Given the description of an element on the screen output the (x, y) to click on. 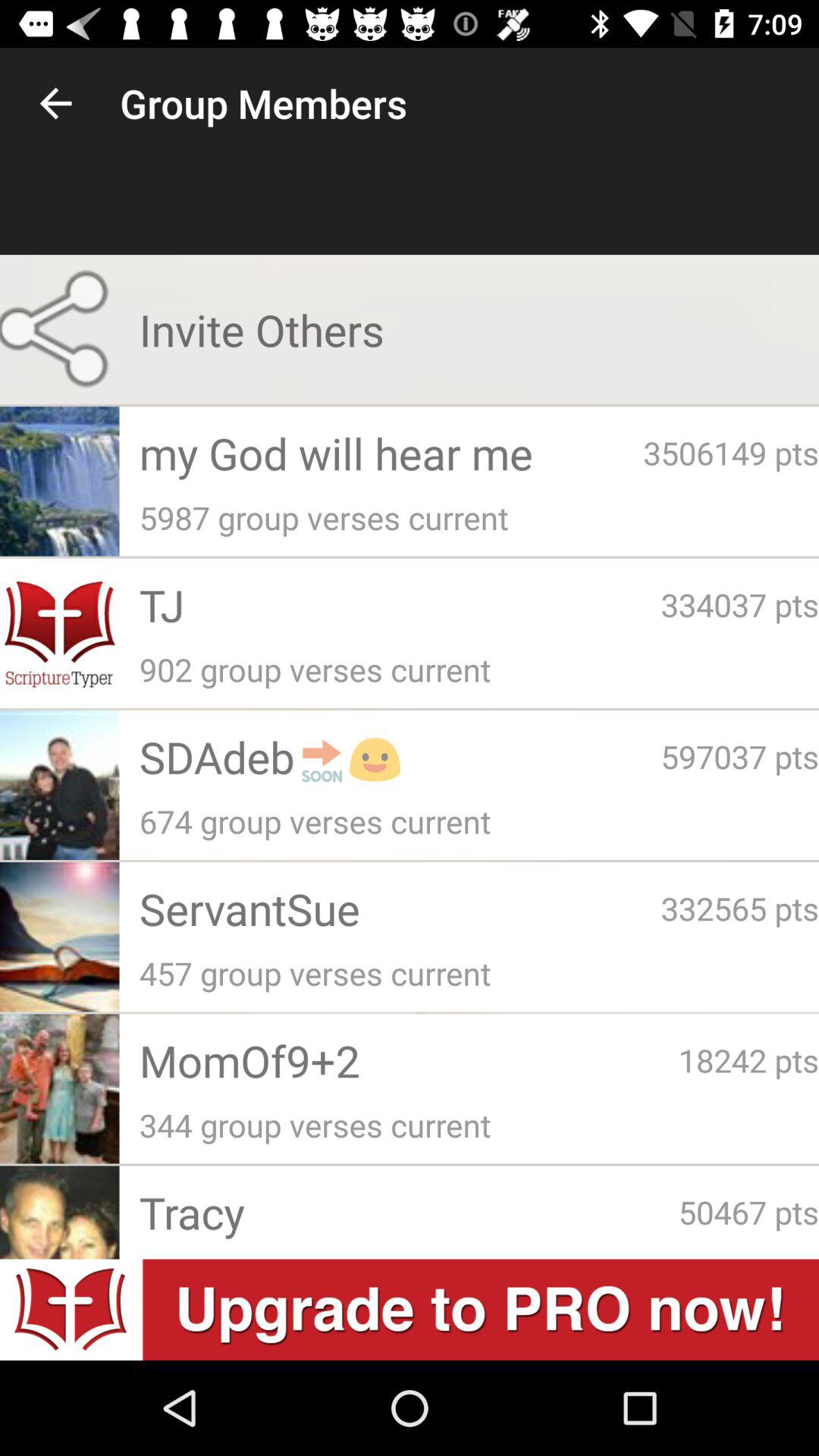
press icon above the 457 group verses item (399, 908)
